Given the description of an element on the screen output the (x, y) to click on. 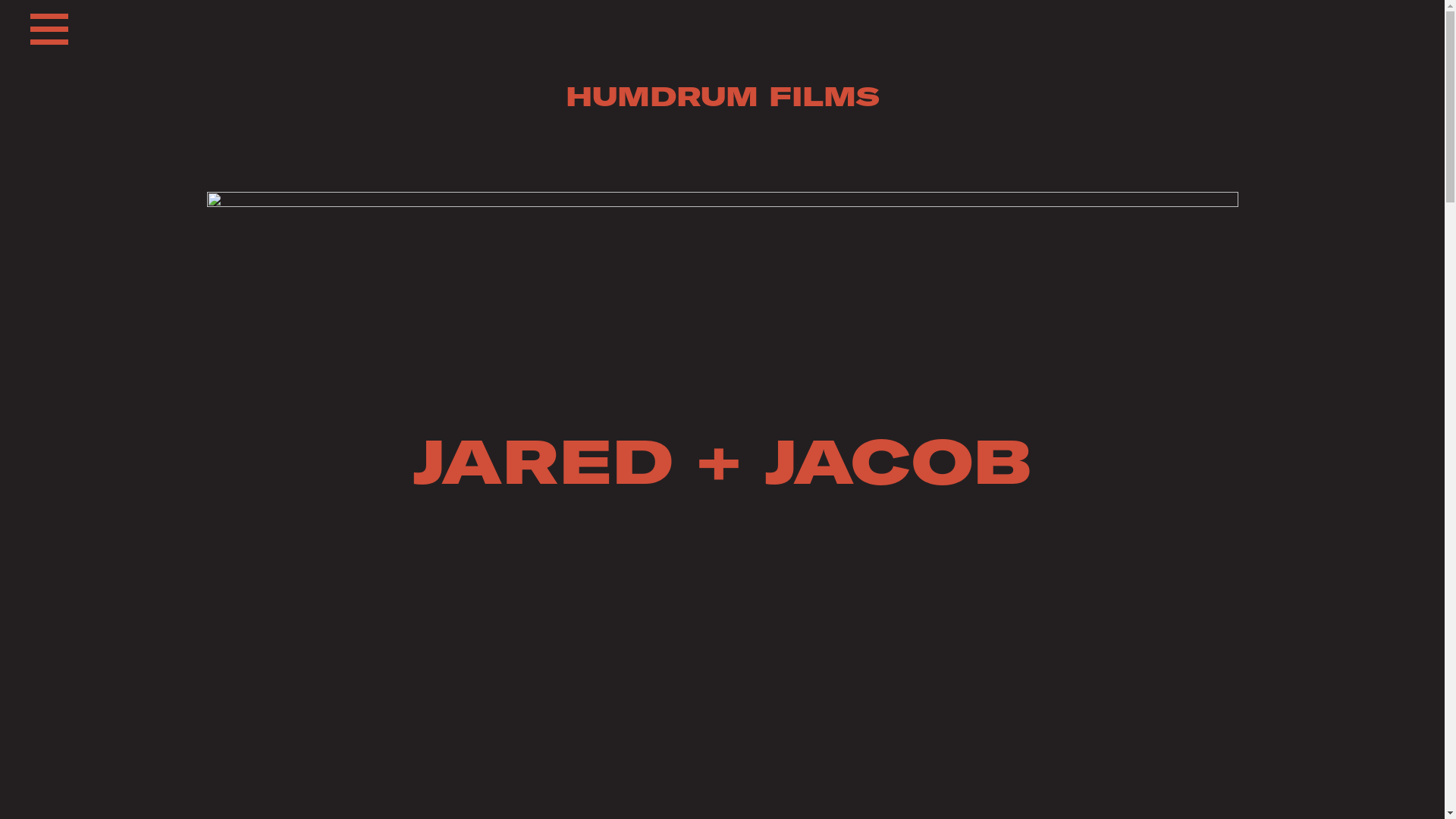
HUMDRUM FILMS Element type: text (722, 95)
